Given the description of an element on the screen output the (x, y) to click on. 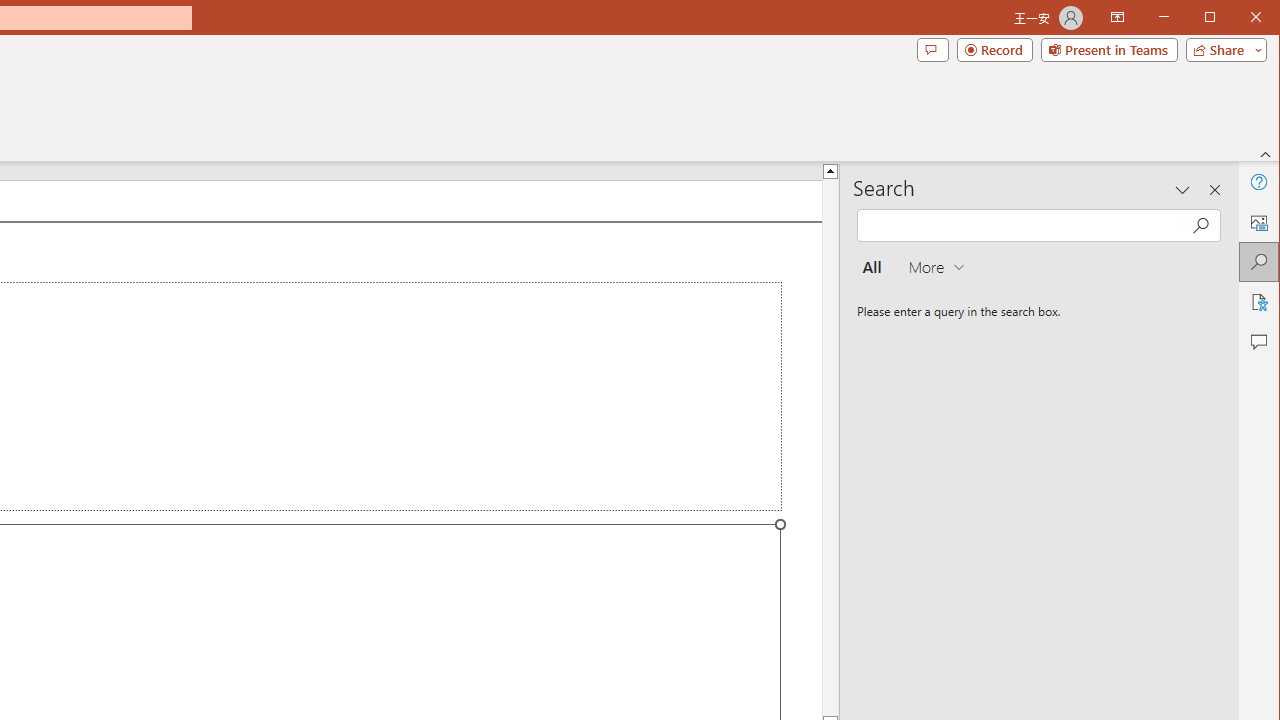
Accessibility (1258, 301)
Maximize (1238, 18)
Search (1258, 261)
Close pane (1215, 189)
Line up (829, 170)
Alt Text (1258, 221)
